Given the description of an element on the screen output the (x, y) to click on. 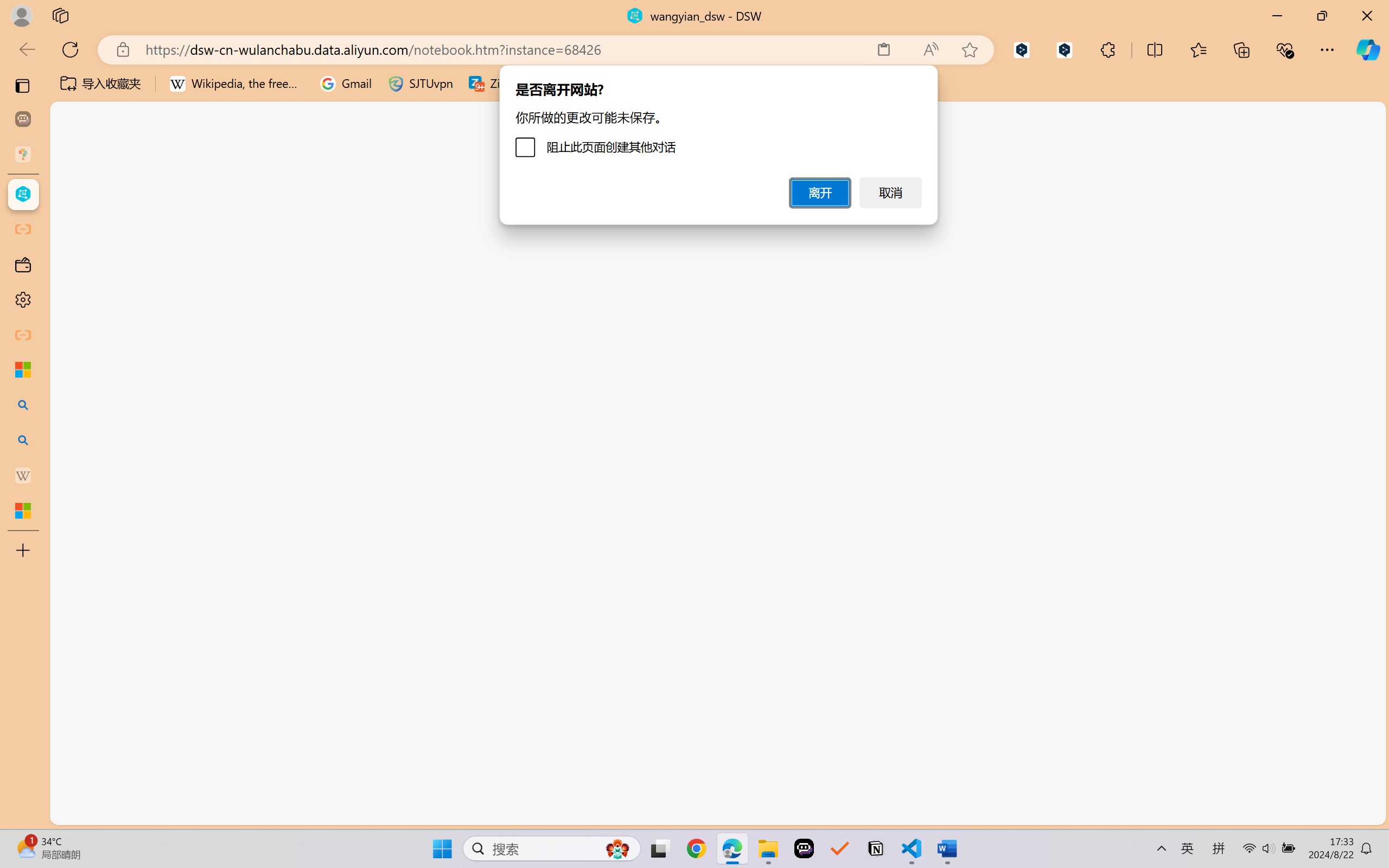
Timeline Section (179, 791)
Wikipedia, the free encyclopedia (236, 83)
Copilot (Ctrl+Shift+.) (1368, 49)
Gmail (345, 83)
Accounts - Sign in requested (73, 732)
Add Port (349, 354)
Explorer Section: workspace (179, 221)
